Given the description of an element on the screen output the (x, y) to click on. 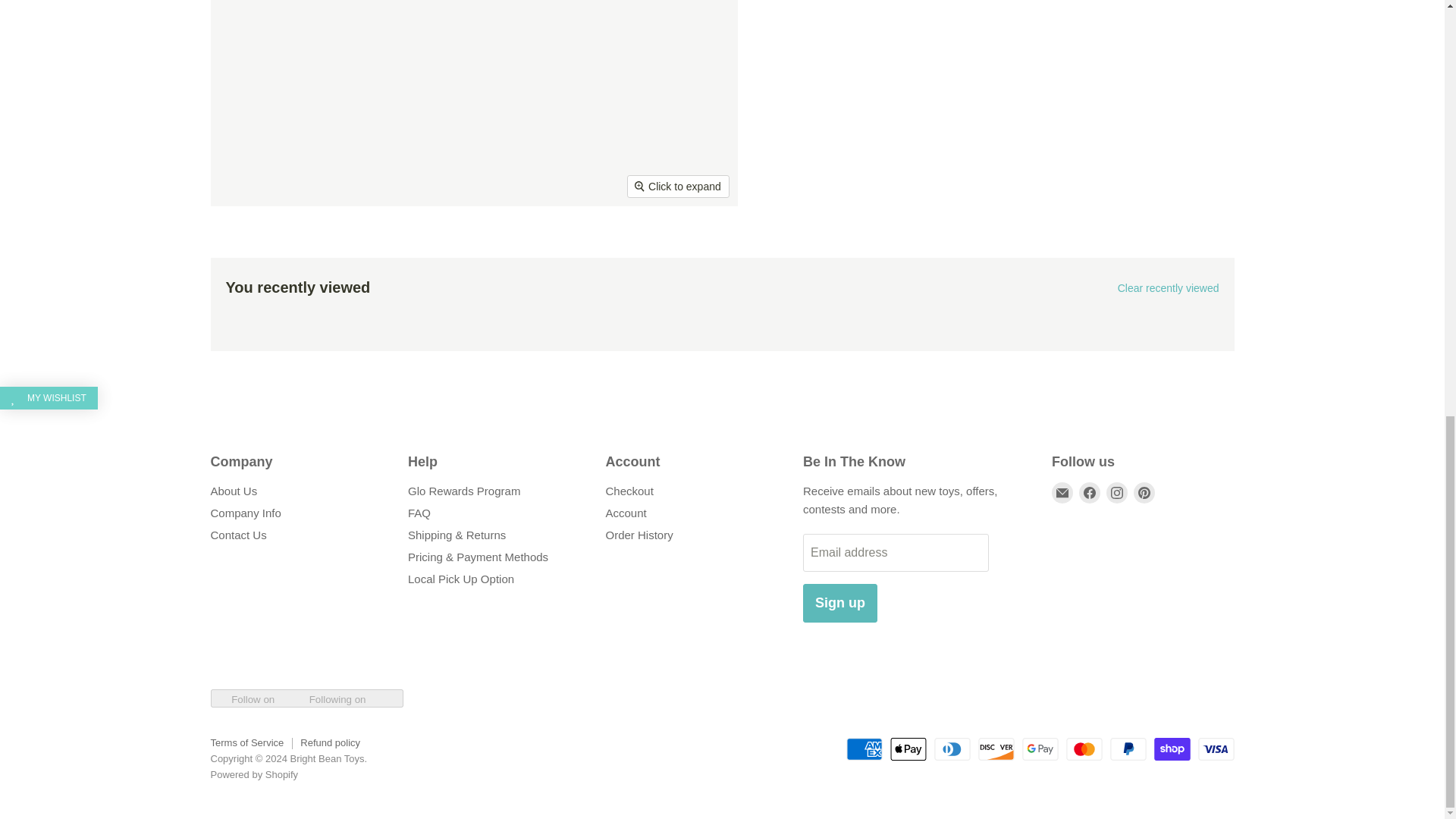
Instagram (1116, 492)
Facebook (1089, 492)
Email (1062, 492)
Pinterest (1144, 492)
